Given the description of an element on the screen output the (x, y) to click on. 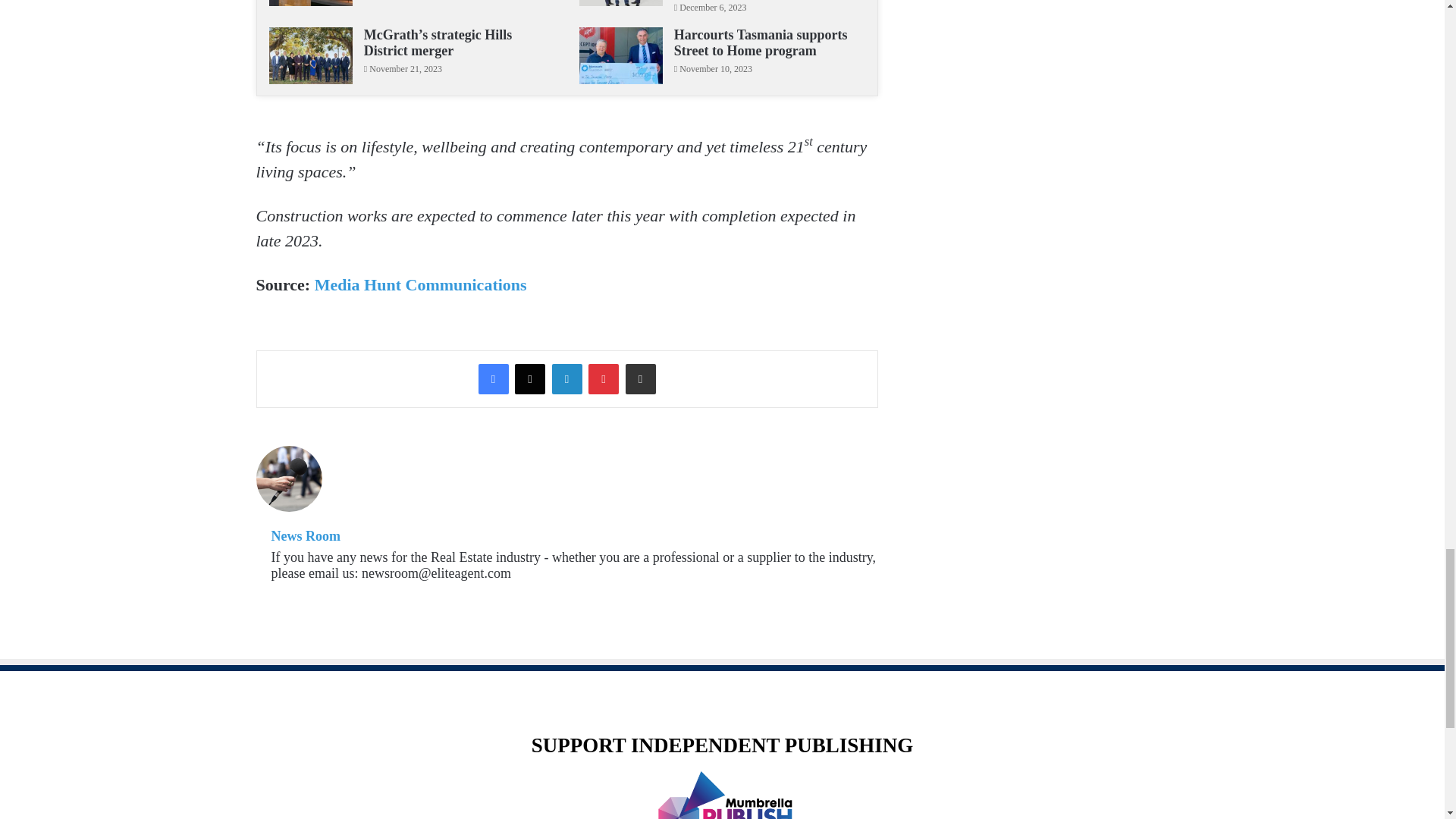
Facebook (492, 378)
